Given the description of an element on the screen output the (x, y) to click on. 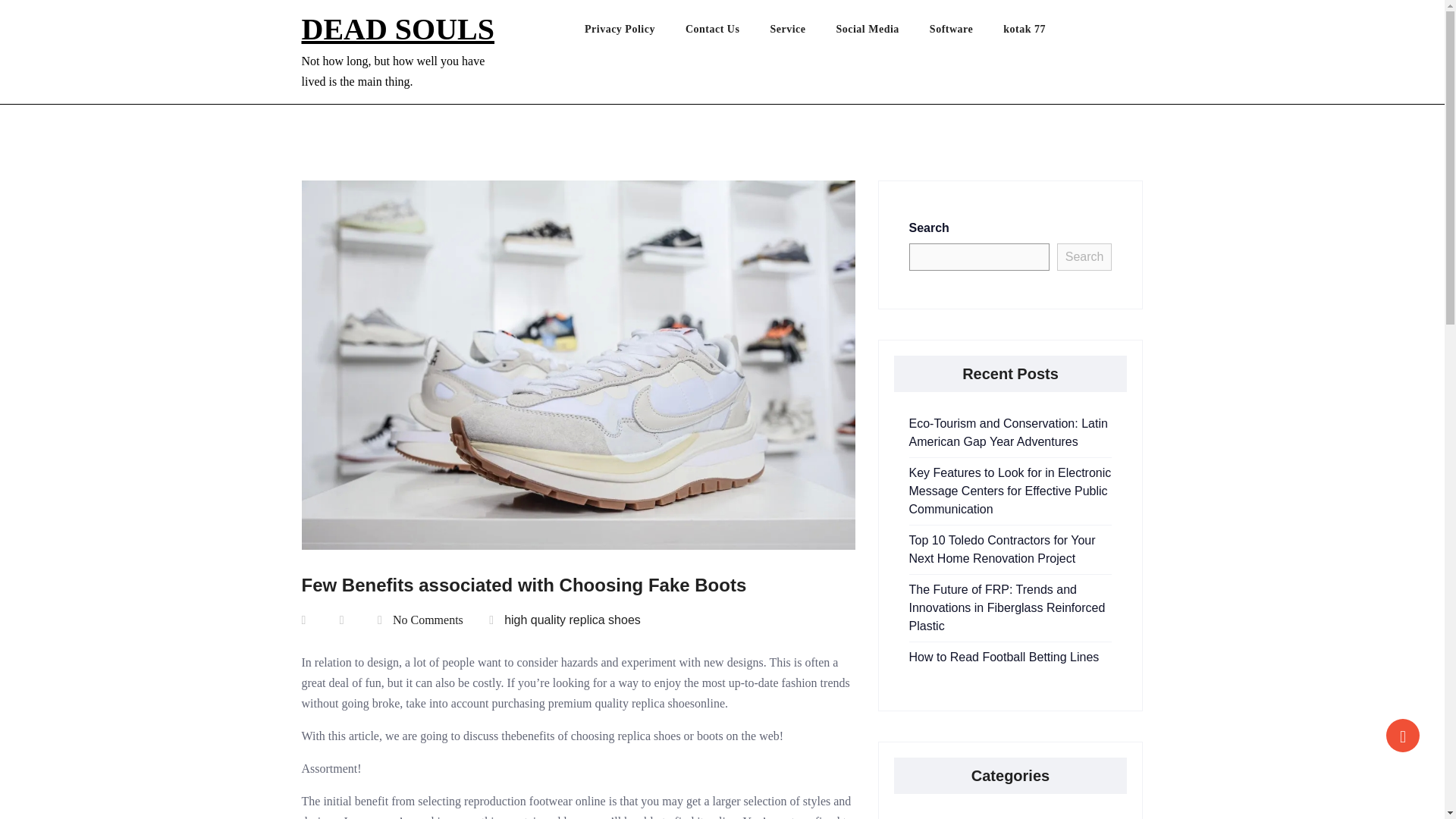
DEAD SOULS (398, 28)
Software (966, 32)
Search (1084, 257)
kotak 77 (1039, 32)
Service (802, 32)
Privacy Policy (635, 32)
How to Read Football Betting Lines (1003, 656)
Contact Us (727, 32)
